Given the description of an element on the screen output the (x, y) to click on. 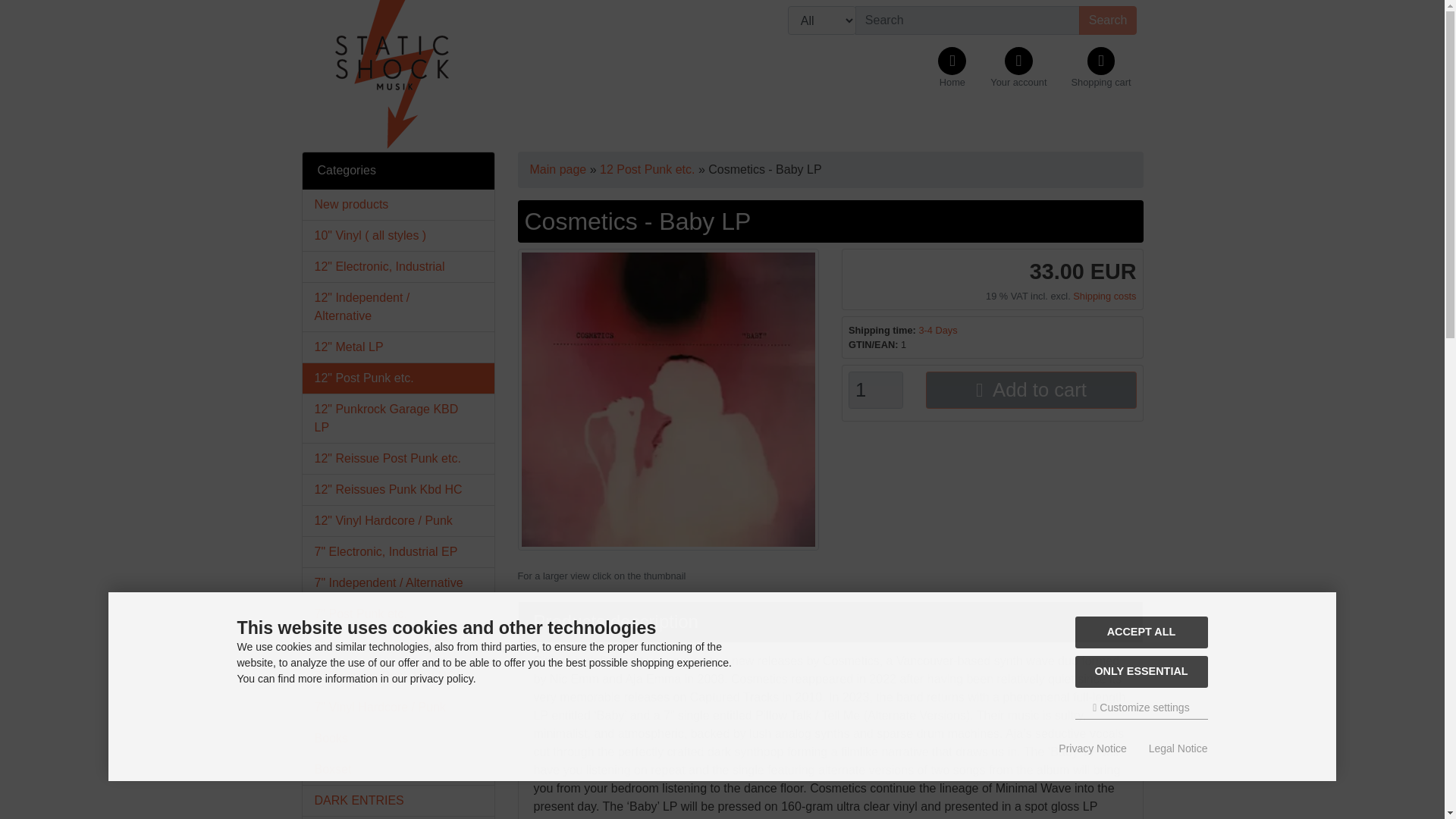
DARK ENTRIES (397, 800)
7" Reissues Punk Kbd HC (397, 675)
7 (397, 552)
7" Punkrock Garage KBD (397, 644)
Search (1107, 20)
Home (952, 67)
Your account (1018, 67)
7 (397, 583)
12" Reissues Punk Kbd HC (397, 490)
12 (397, 490)
12" Reissue Post Punk etc. (397, 458)
Books (397, 738)
1 (875, 389)
Boxset (397, 769)
10 (397, 235)
